Given the description of an element on the screen output the (x, y) to click on. 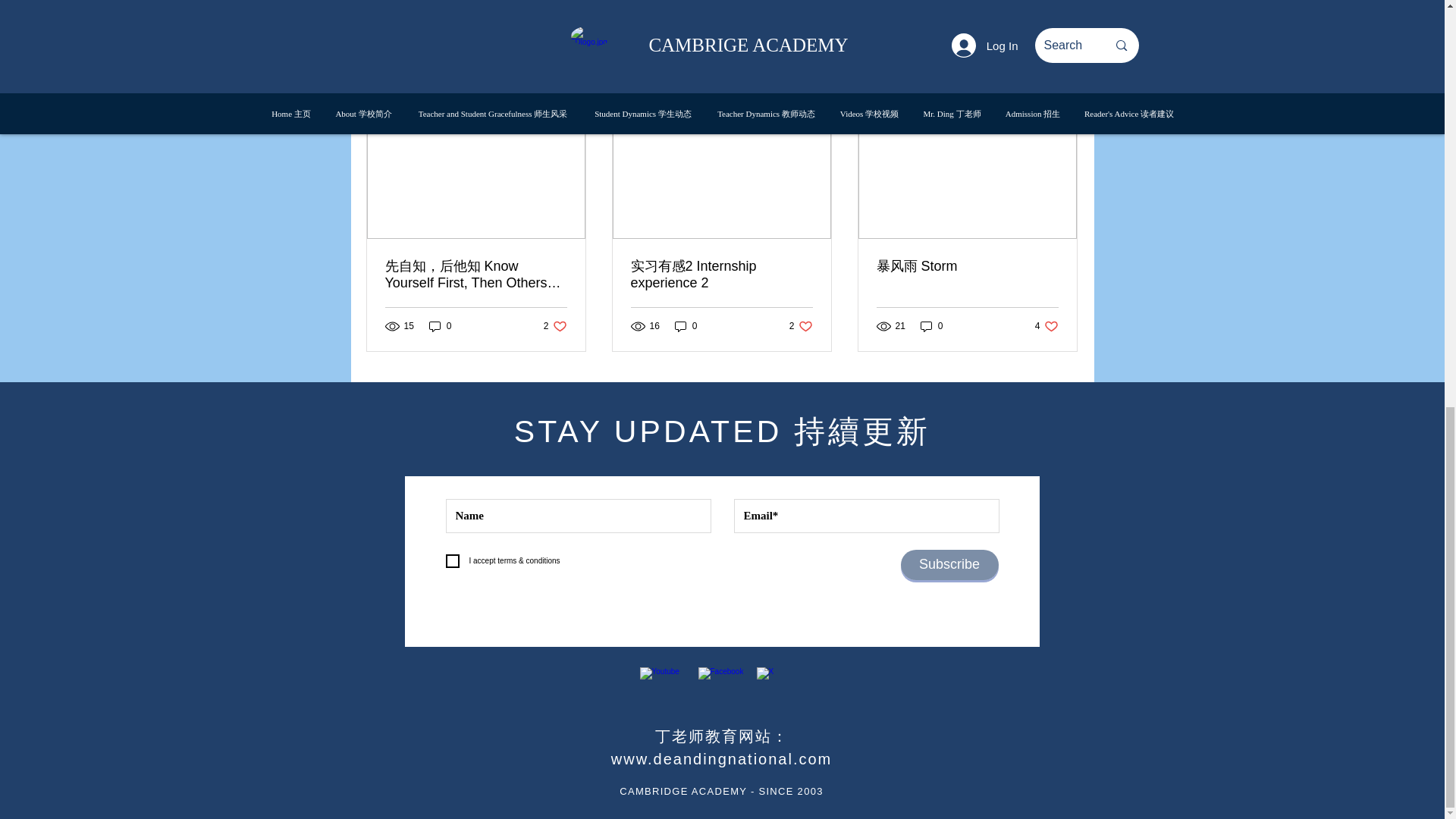
0 (990, 6)
See All (440, 325)
